Given the description of an element on the screen output the (x, y) to click on. 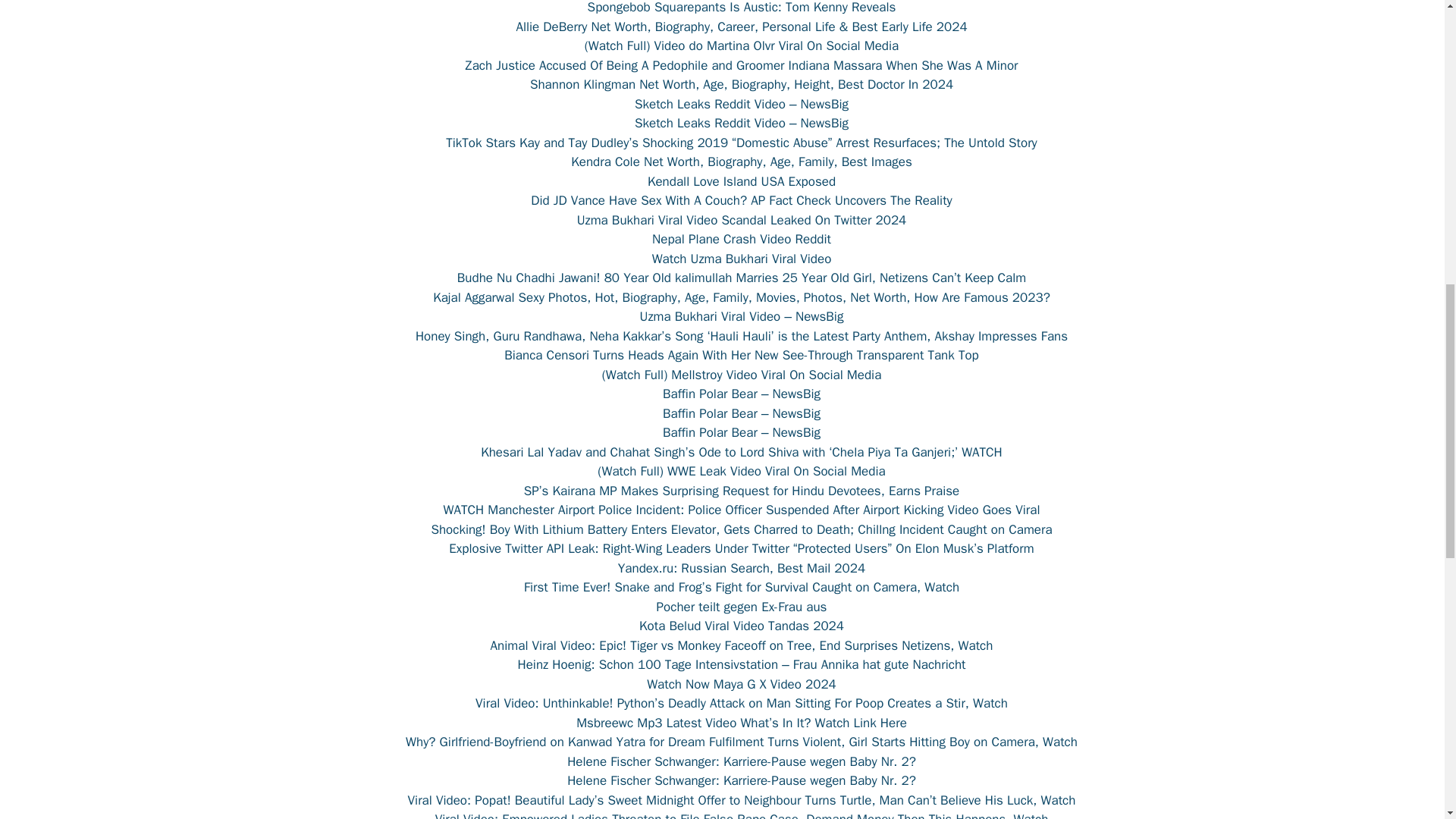
Watch Uzma Bukhari Viral Video (741, 258)
Spongebob Squarepants Is Austic: Tom Kenny Reveals (742, 7)
Kendall Love Island USA Exposed (741, 180)
Uzma Bukhari Viral Video Scandal Leaked On Twitter 2024 (741, 220)
Kendra Cole Net Worth, Biography, Age, Family, Best Images (741, 161)
Nepal Plane Crash Video Reddit (741, 238)
